Given the description of an element on the screen output the (x, y) to click on. 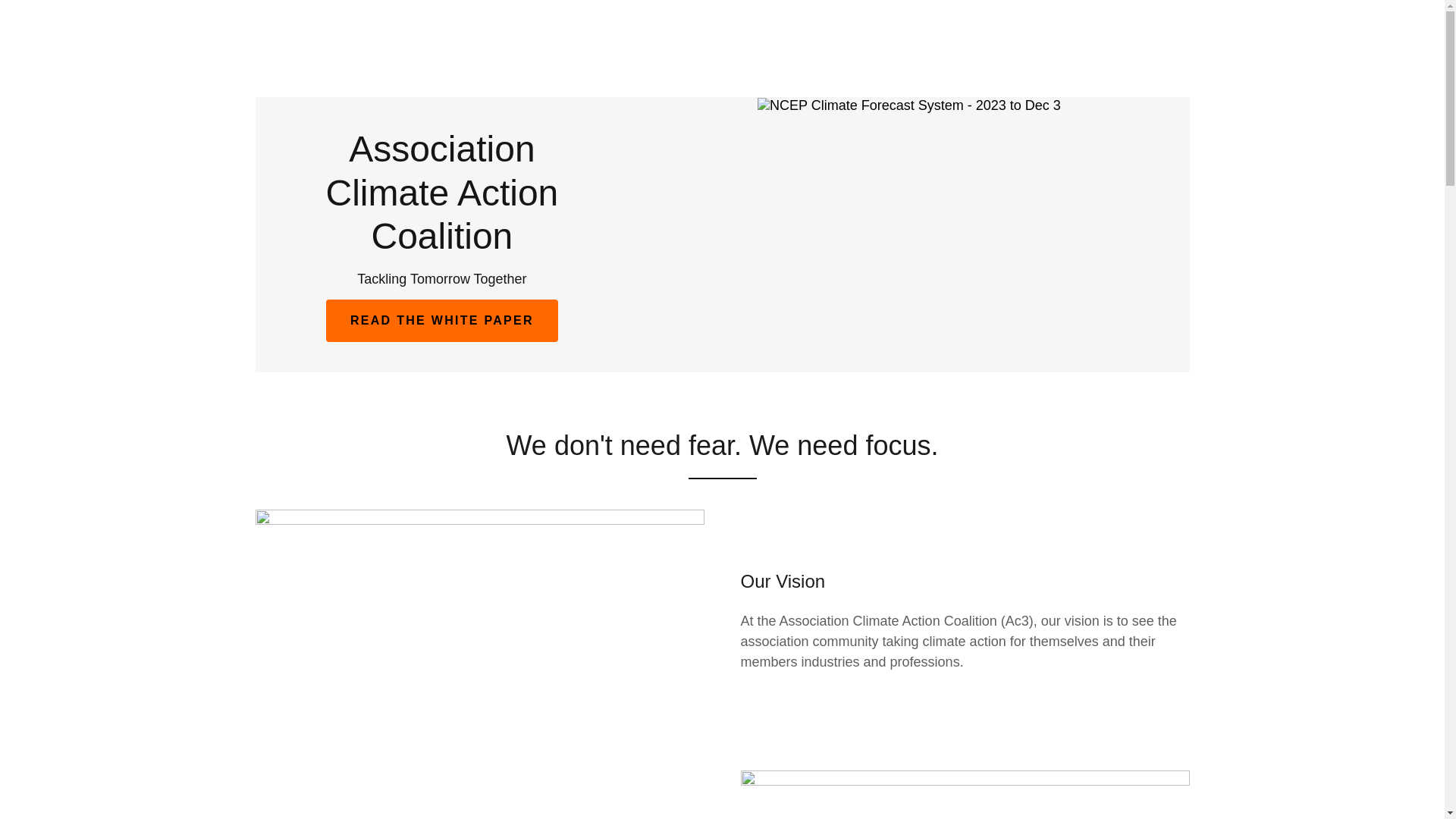
Association Climate Action Coalition (441, 243)
READ THE WHITE PAPER (441, 320)
Association Climate Action Coalition (441, 243)
